Given the description of an element on the screen output the (x, y) to click on. 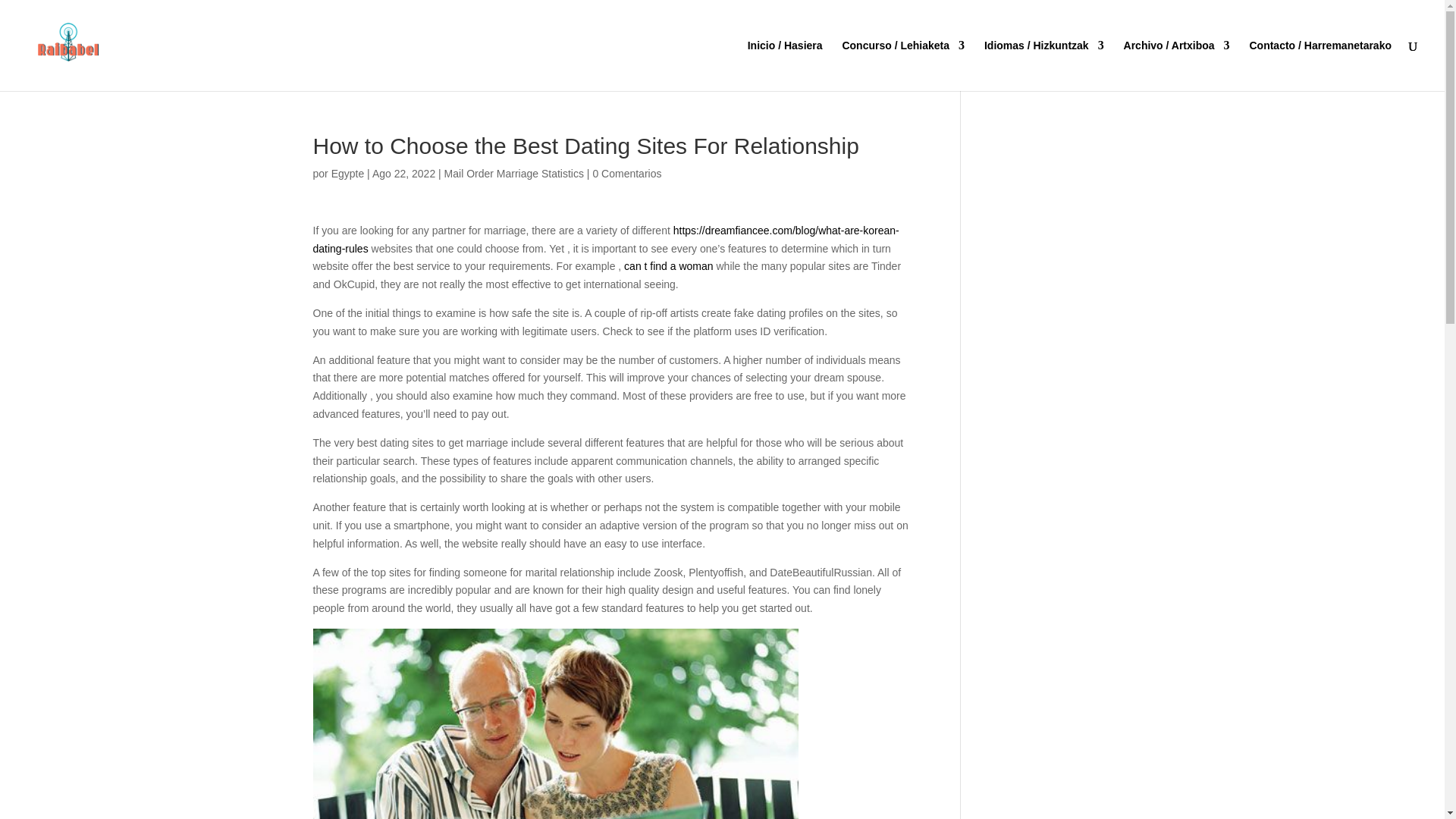
Egypte (348, 173)
Mail Order Marriage Statistics (513, 173)
Mensajes de Egypte (348, 173)
can t find a woman (668, 265)
0 Comentarios (626, 173)
